Given the description of an element on the screen output the (x, y) to click on. 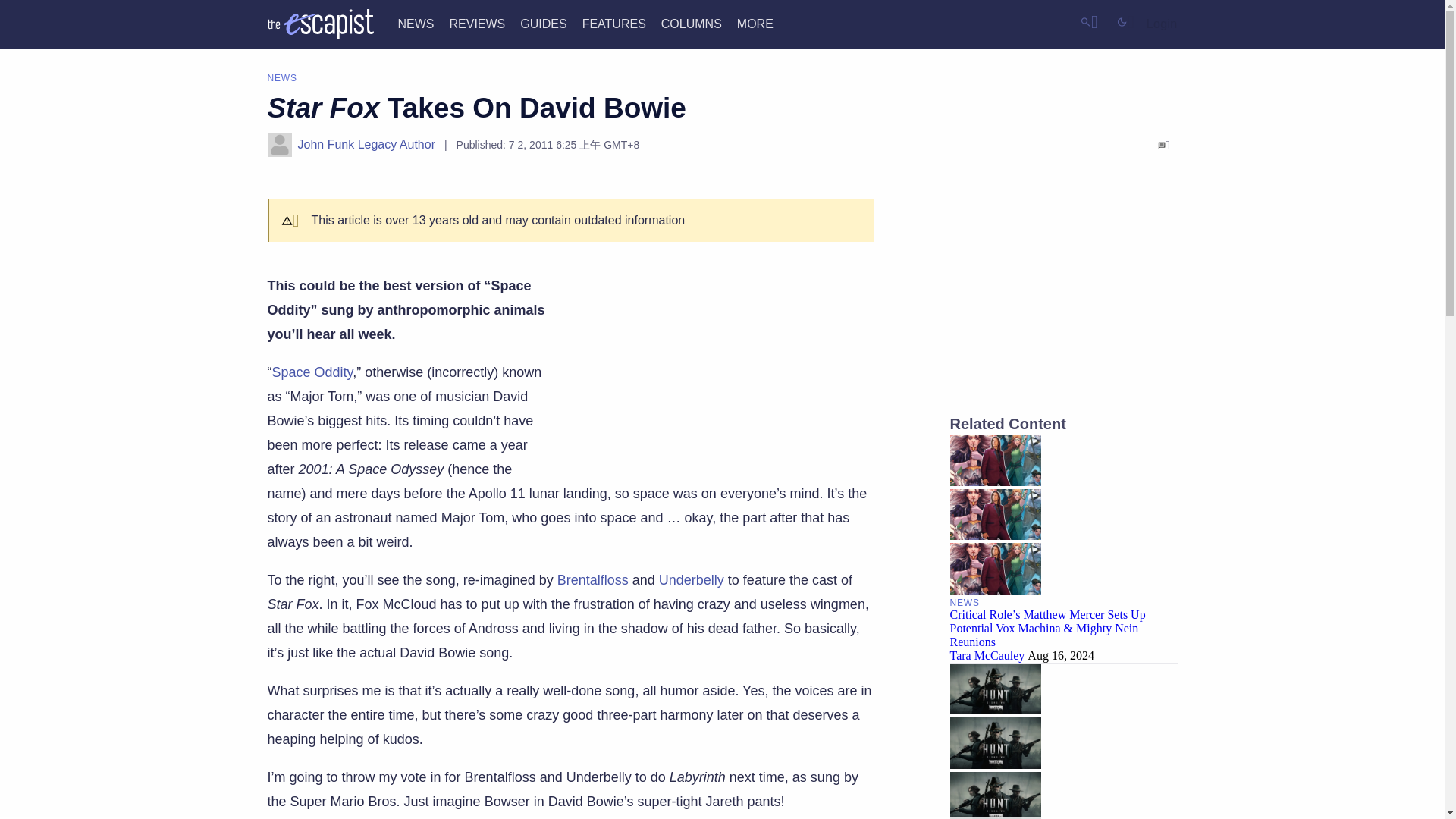
Dark Mode (1124, 21)
NEWS (415, 23)
Search (1088, 21)
FEATURES (614, 23)
Login (1162, 23)
GUIDES (542, 23)
REVIEWS (476, 23)
COLUMNS (691, 23)
